Given the description of an element on the screen output the (x, y) to click on. 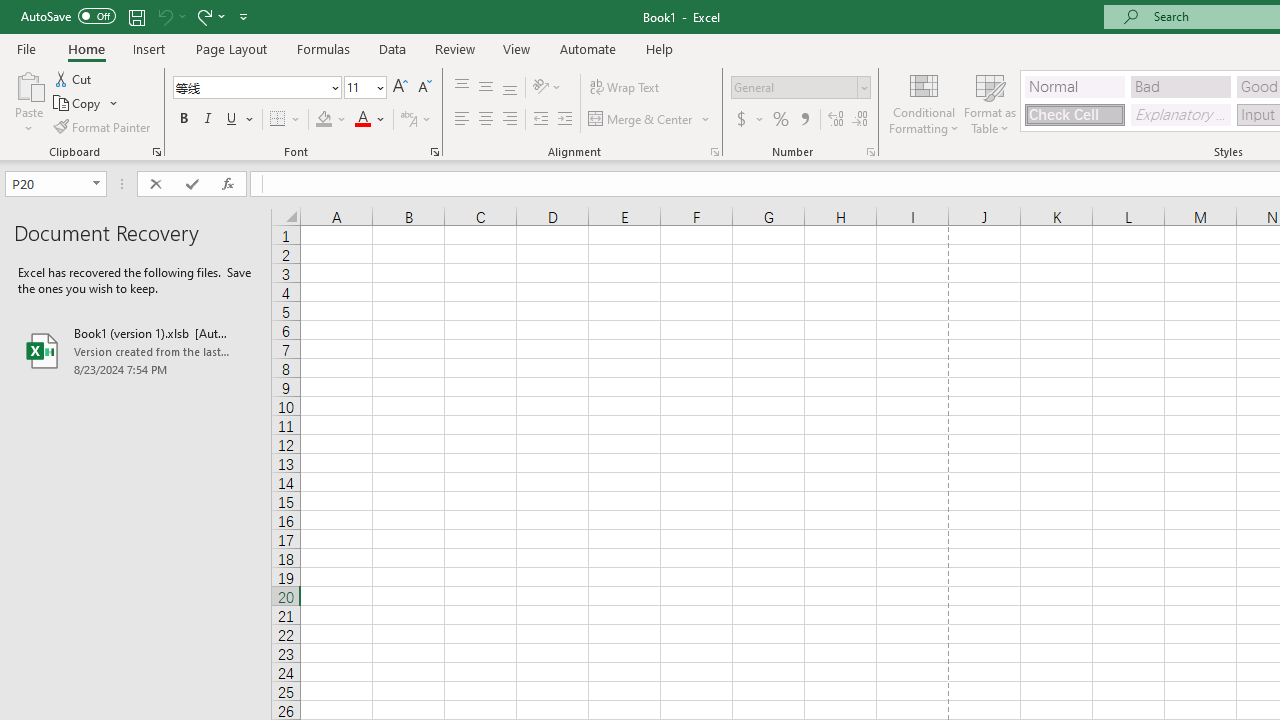
Bad (1180, 86)
Bottom Align (509, 87)
Italic (207, 119)
Accounting Number Format (749, 119)
Font Size (358, 87)
Number Format (800, 87)
Increase Font Size (399, 87)
Cut (73, 78)
Format Painter (103, 126)
Align Right (509, 119)
